Given the description of an element on the screen output the (x, y) to click on. 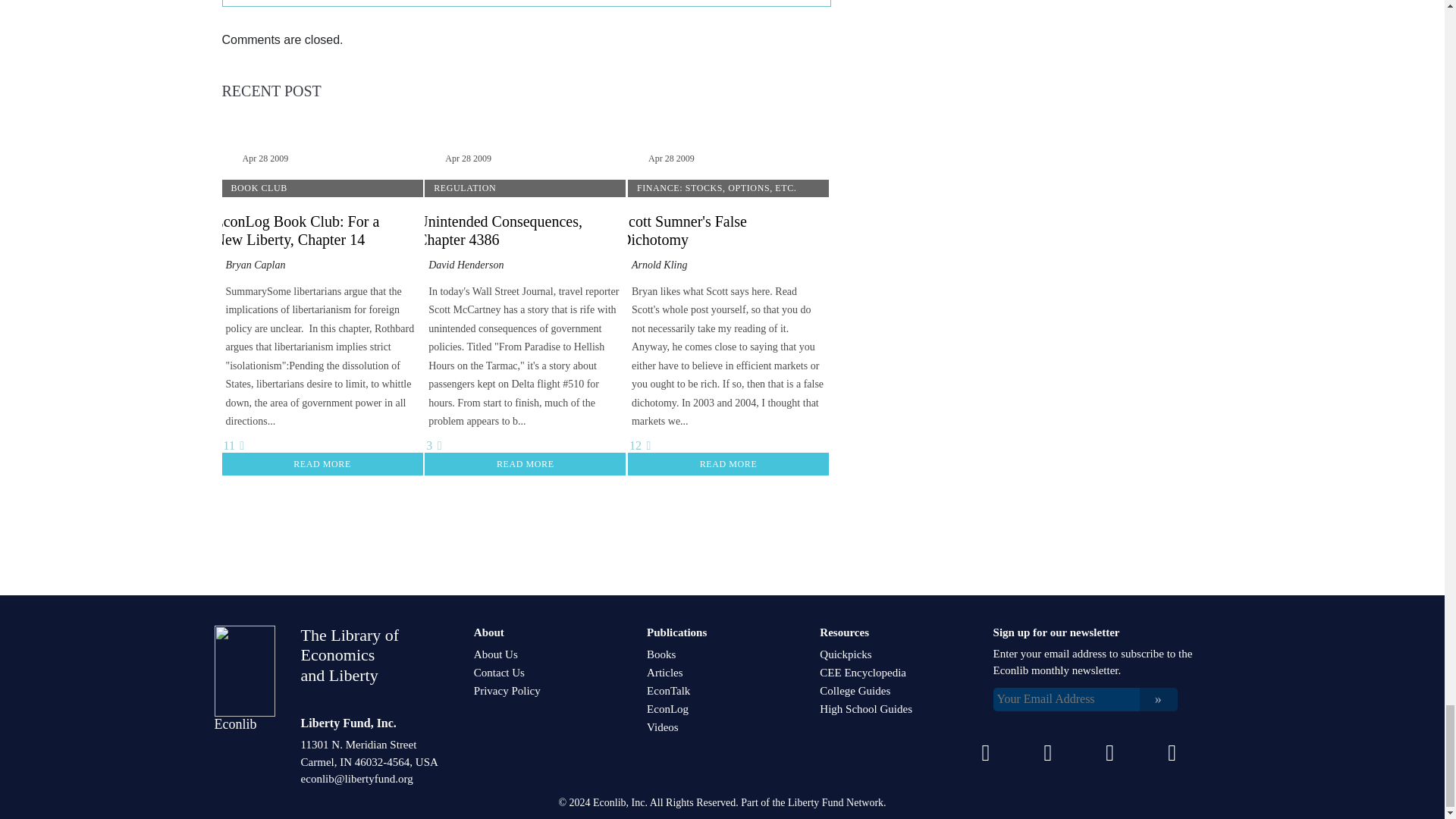
Bryan Caplan (255, 265)
Arnold Kling (659, 265)
David Henderson (465, 265)
